Given the description of an element on the screen output the (x, y) to click on. 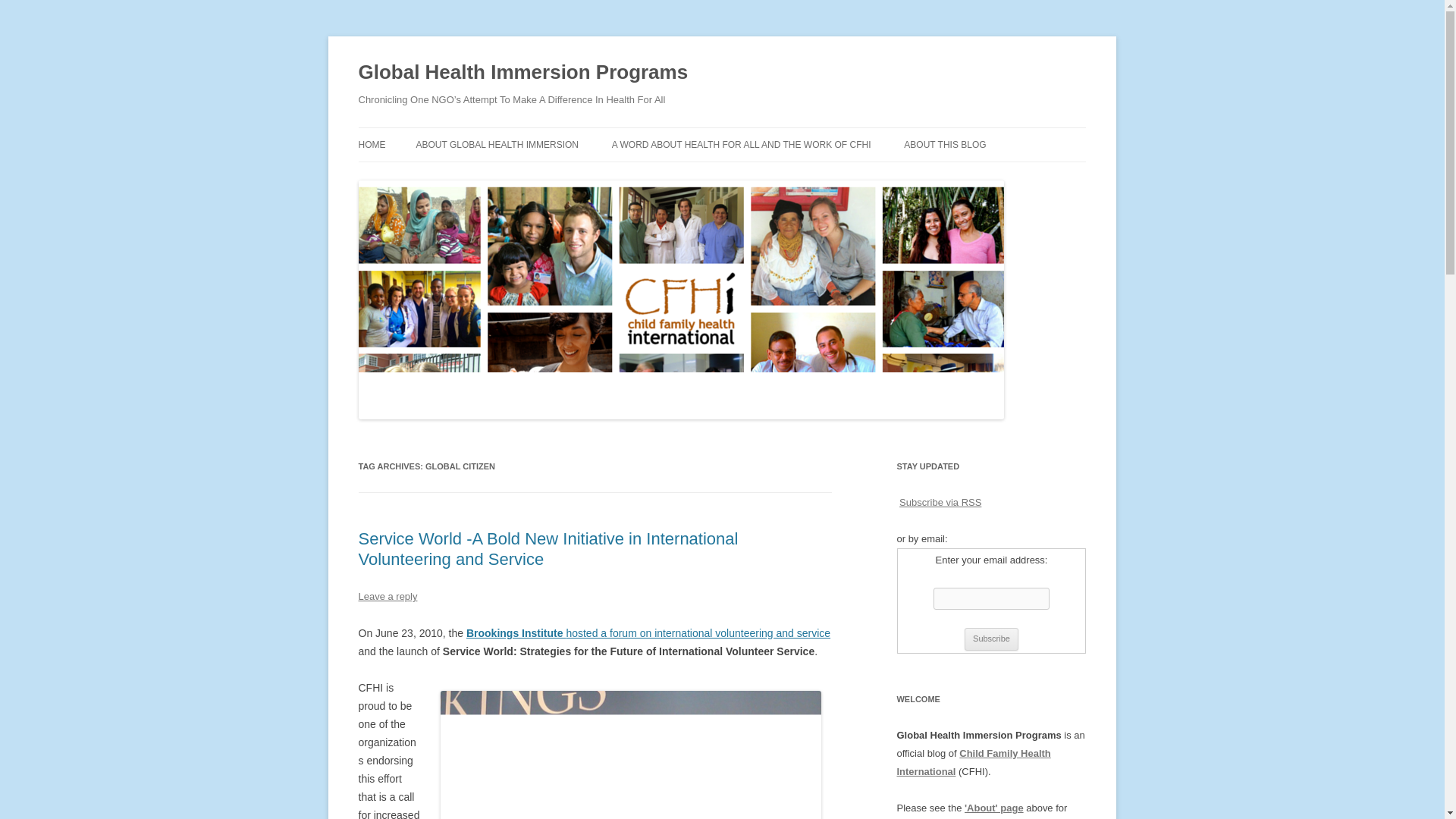
Subscribe (990, 639)
Subscribe via RSS (940, 501)
ABOUT THIS BLOG (944, 144)
Leave a reply (387, 595)
Child Family Health International (972, 762)
Global Health Immersion Programs (522, 72)
Brookings Service World Event (515, 633)
hosted a forum on international volunteering and service (697, 633)
